Given the description of an element on the screen output the (x, y) to click on. 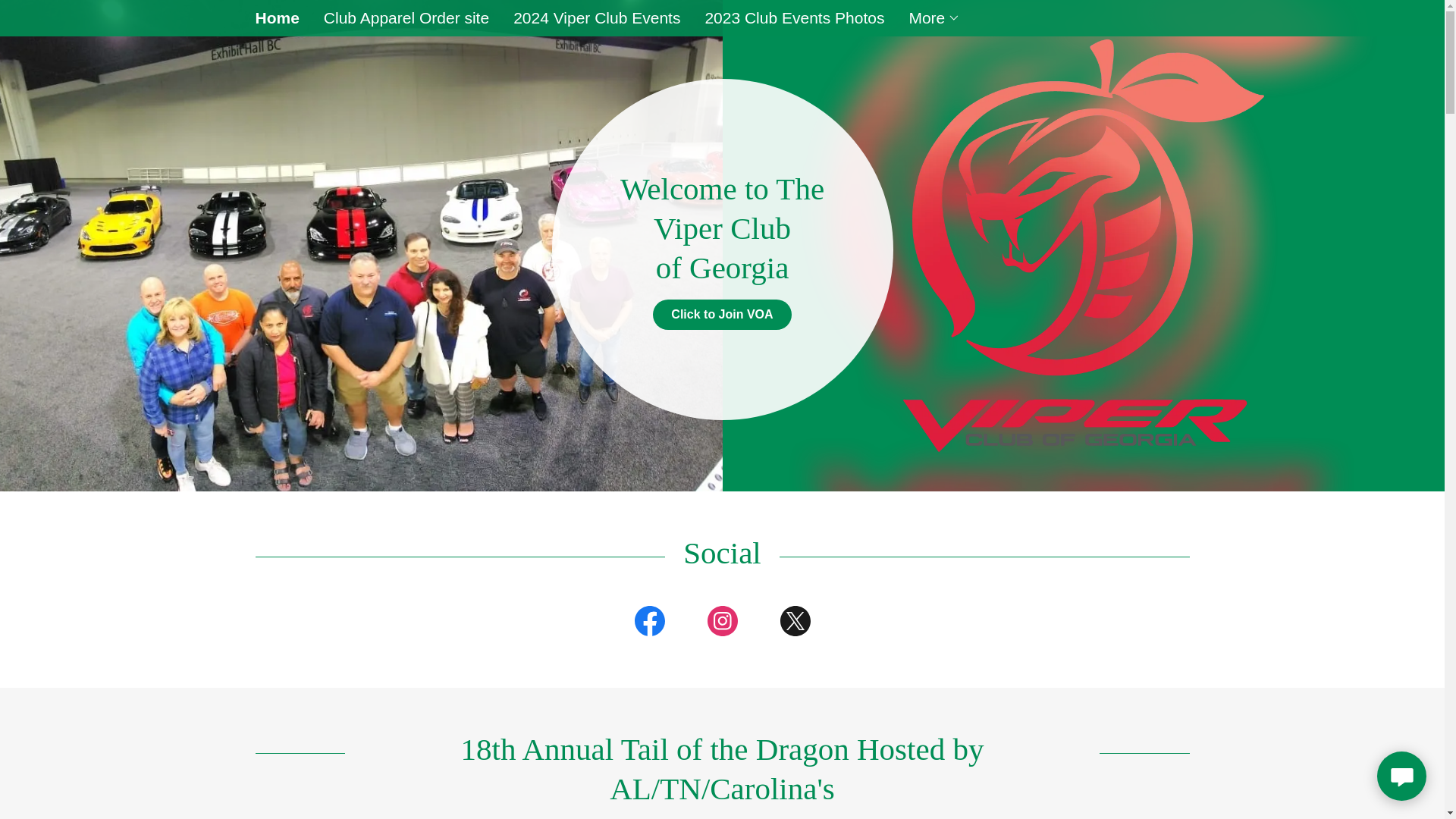
2024 Viper Club Events (596, 17)
2023 Club Events Photos (794, 17)
Club Apparel Order site (405, 17)
Click to Join VOA (721, 314)
Home (276, 18)
More (933, 18)
